Given the description of an element on the screen output the (x, y) to click on. 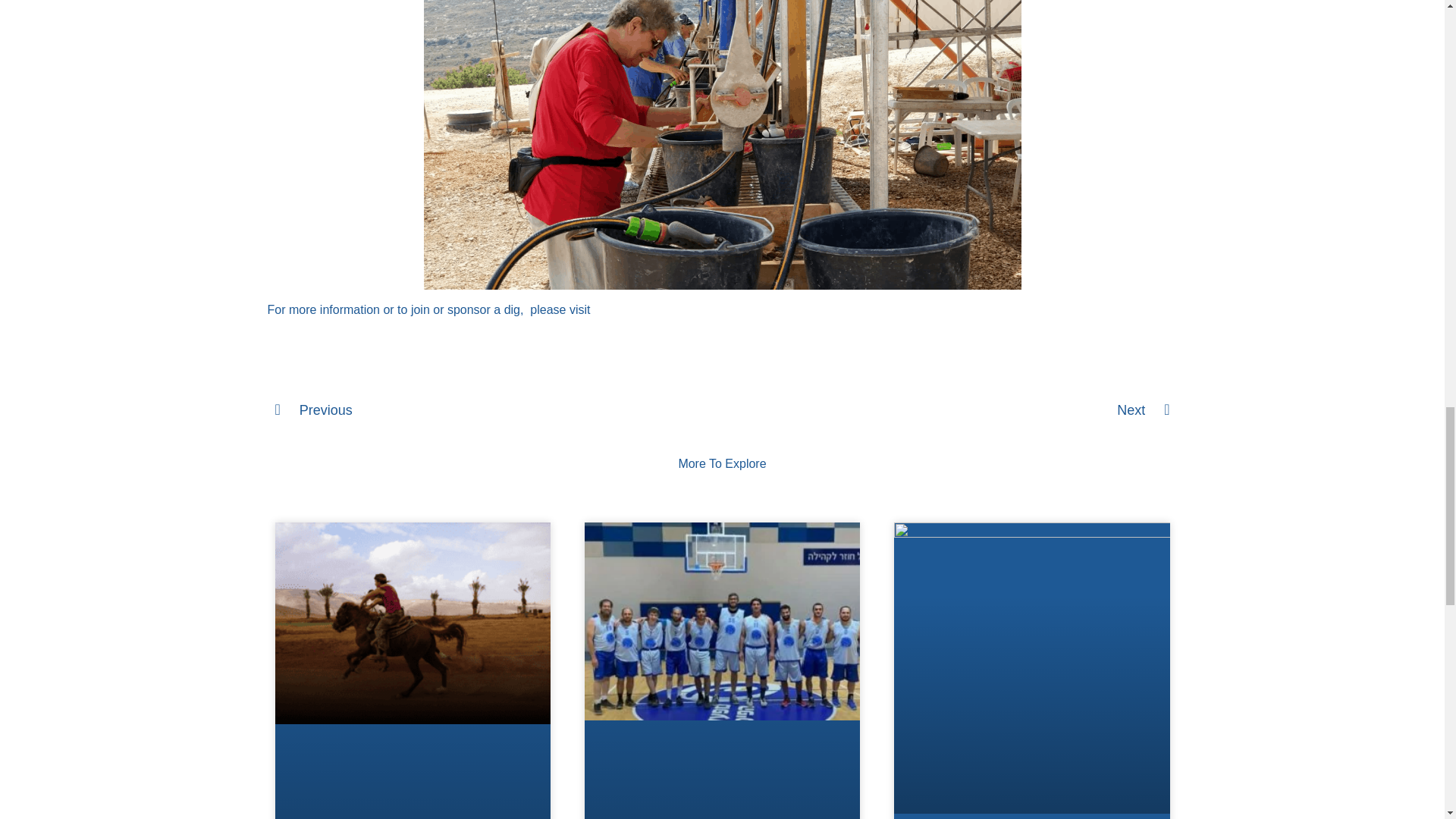
Next (946, 409)
Previous (498, 409)
www.digshiloh.org (642, 309)
